Given the description of an element on the screen output the (x, y) to click on. 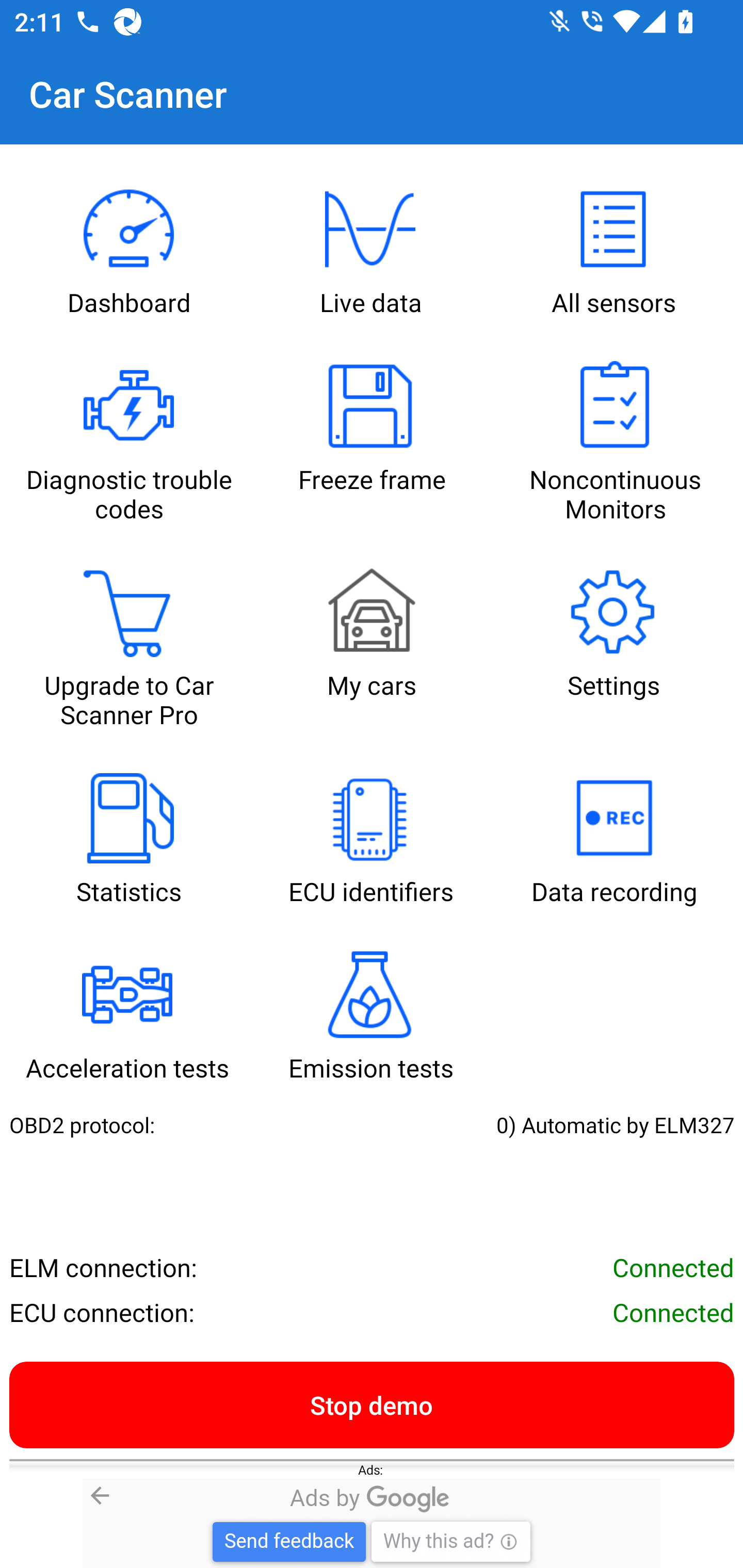
Stop demo (371, 1404)
